Given the description of an element on the screen output the (x, y) to click on. 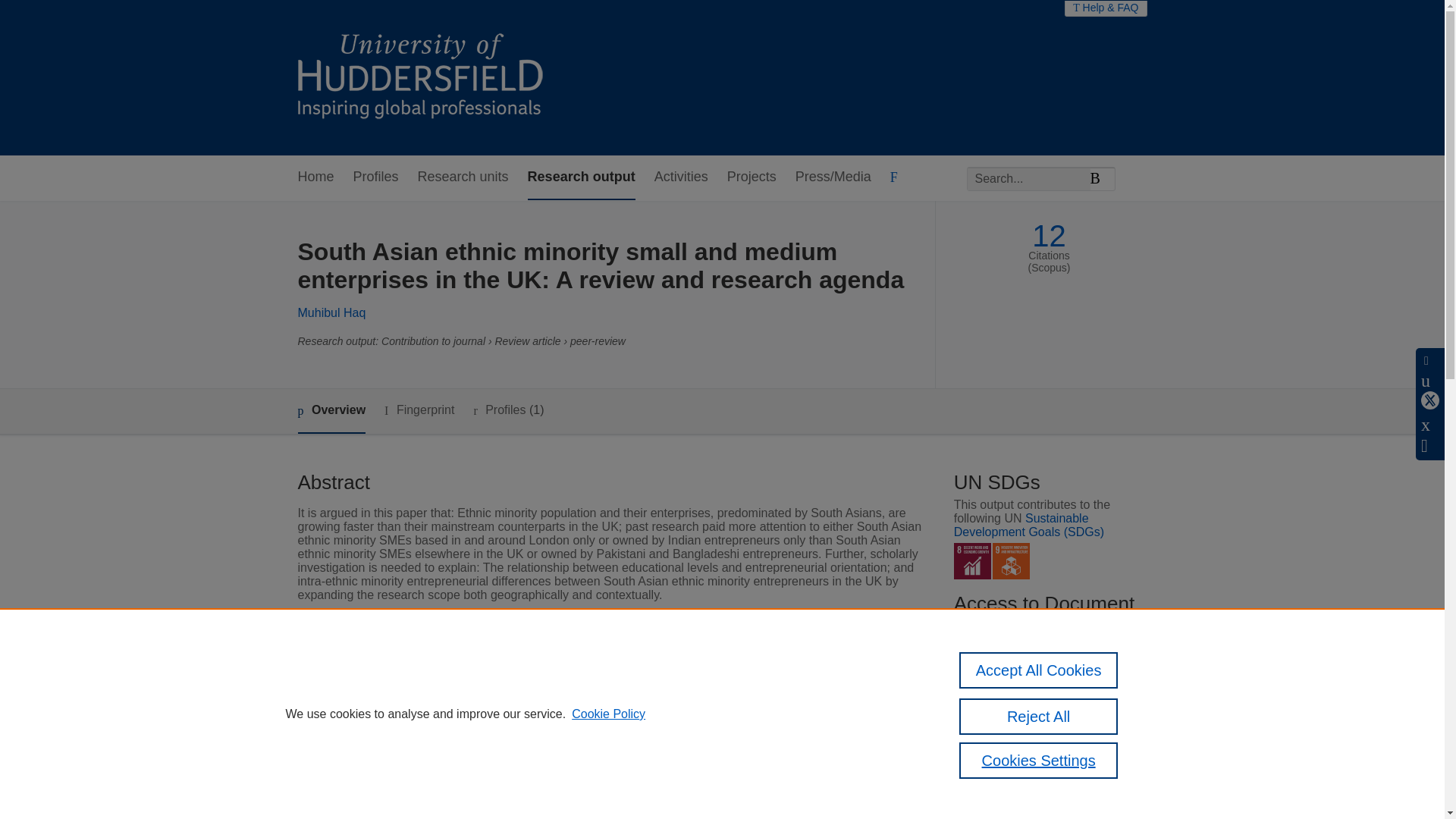
Fingerprint (419, 410)
Link to publication in Scopus (1045, 698)
Overview (331, 411)
SDG 9 - Industry, Innovation, and Infrastructure (1010, 560)
International Journal of Entrepreneurship and Small Business (668, 685)
Research units (462, 177)
University of Huddersfield Research Portal Home (431, 77)
12 (1048, 235)
Profiles (375, 177)
Muhibul Haq (331, 312)
Projects (751, 177)
SDG 8 - Decent Work and Economic Growth (972, 560)
Activities (680, 177)
Research output (580, 177)
